Given the description of an element on the screen output the (x, y) to click on. 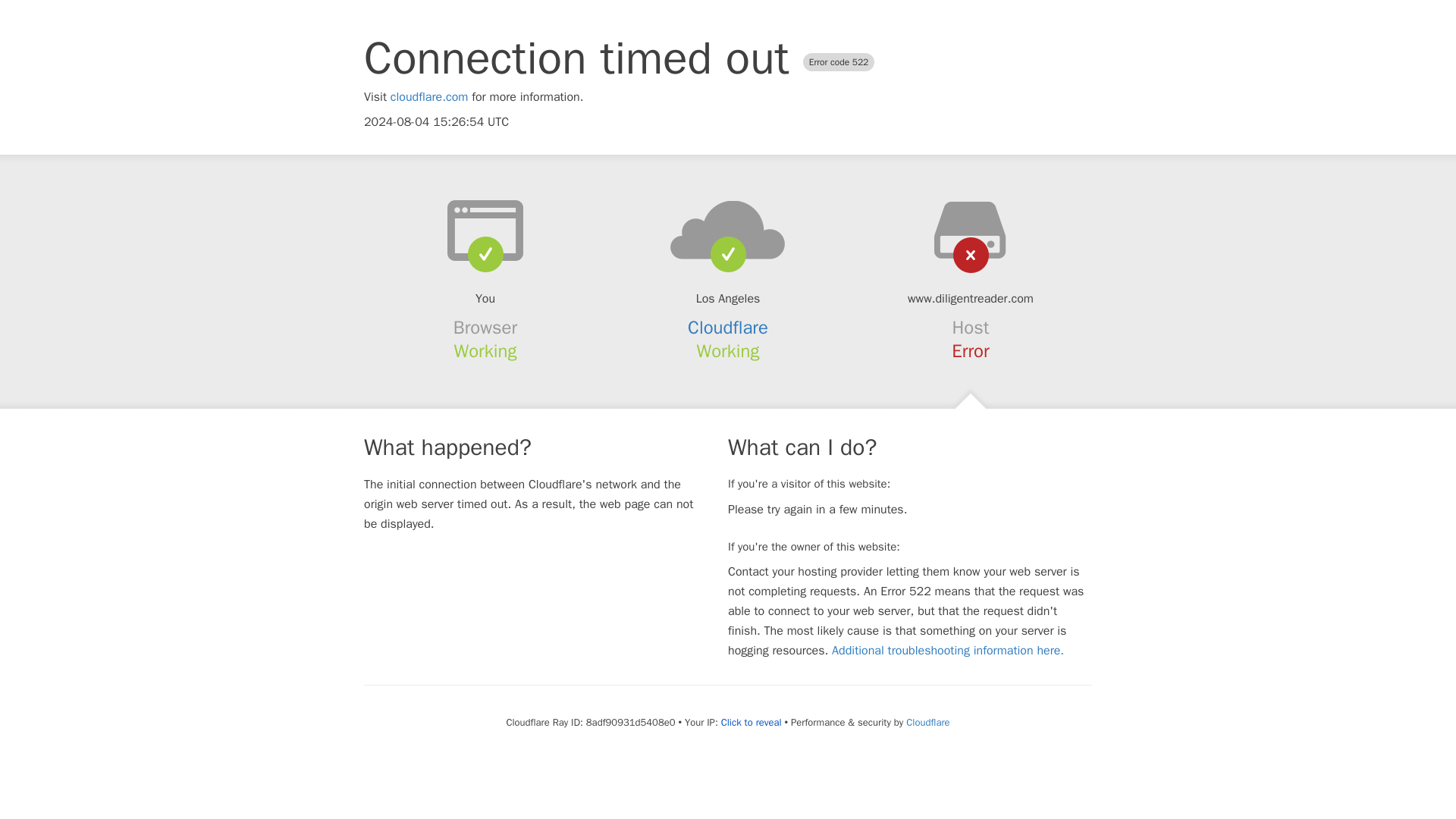
Additional troubleshooting information here. (947, 650)
cloudflare.com (429, 96)
Click to reveal (750, 722)
Cloudflare (927, 721)
Cloudflare (727, 327)
